Given the description of an element on the screen output the (x, y) to click on. 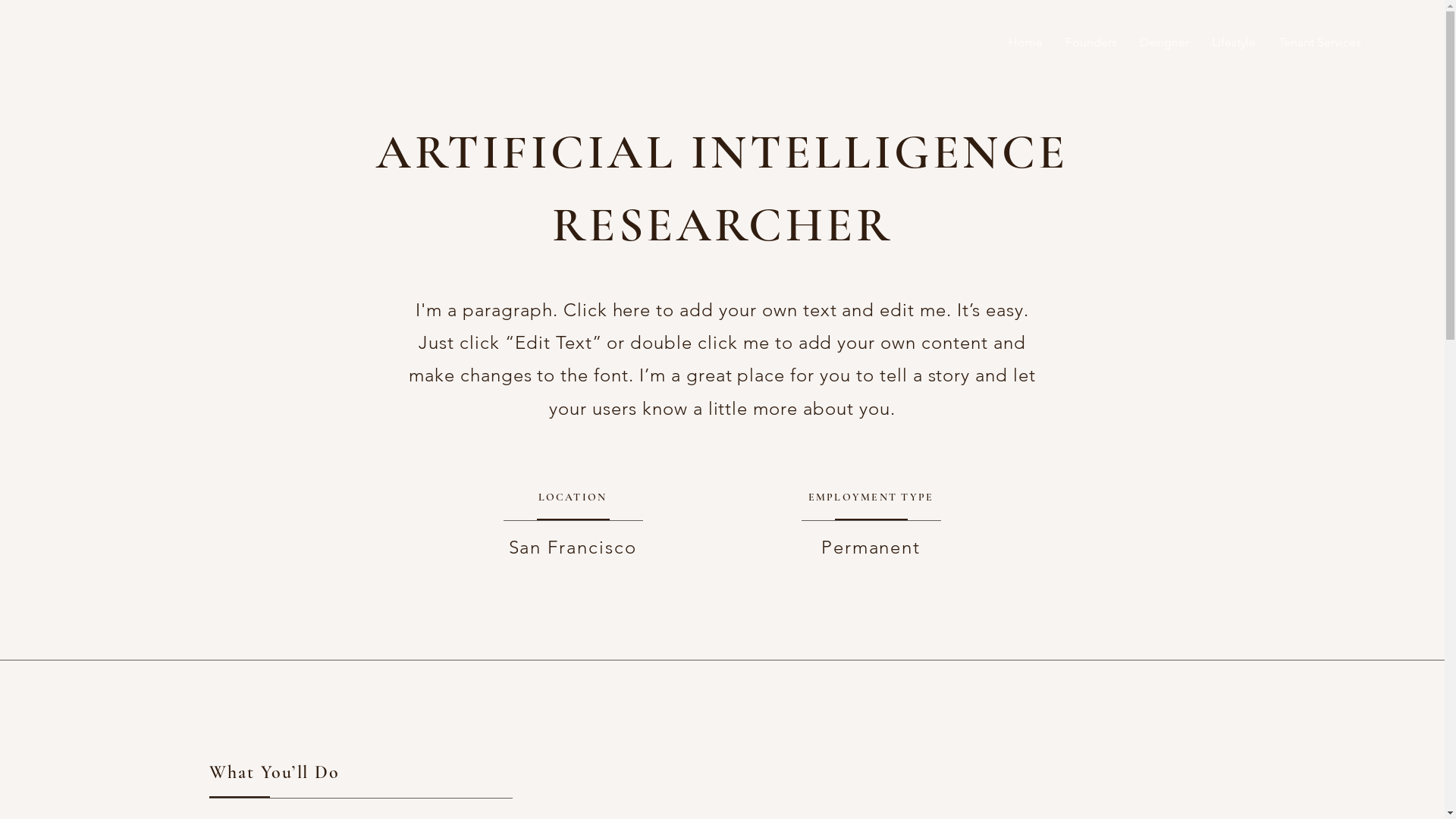
Designer Element type: text (1164, 42)
Home Element type: text (1025, 42)
Tenant Services Element type: text (1319, 42)
Lifestyle Element type: text (1233, 42)
Founders Element type: text (1091, 42)
